Given the description of an element on the screen output the (x, y) to click on. 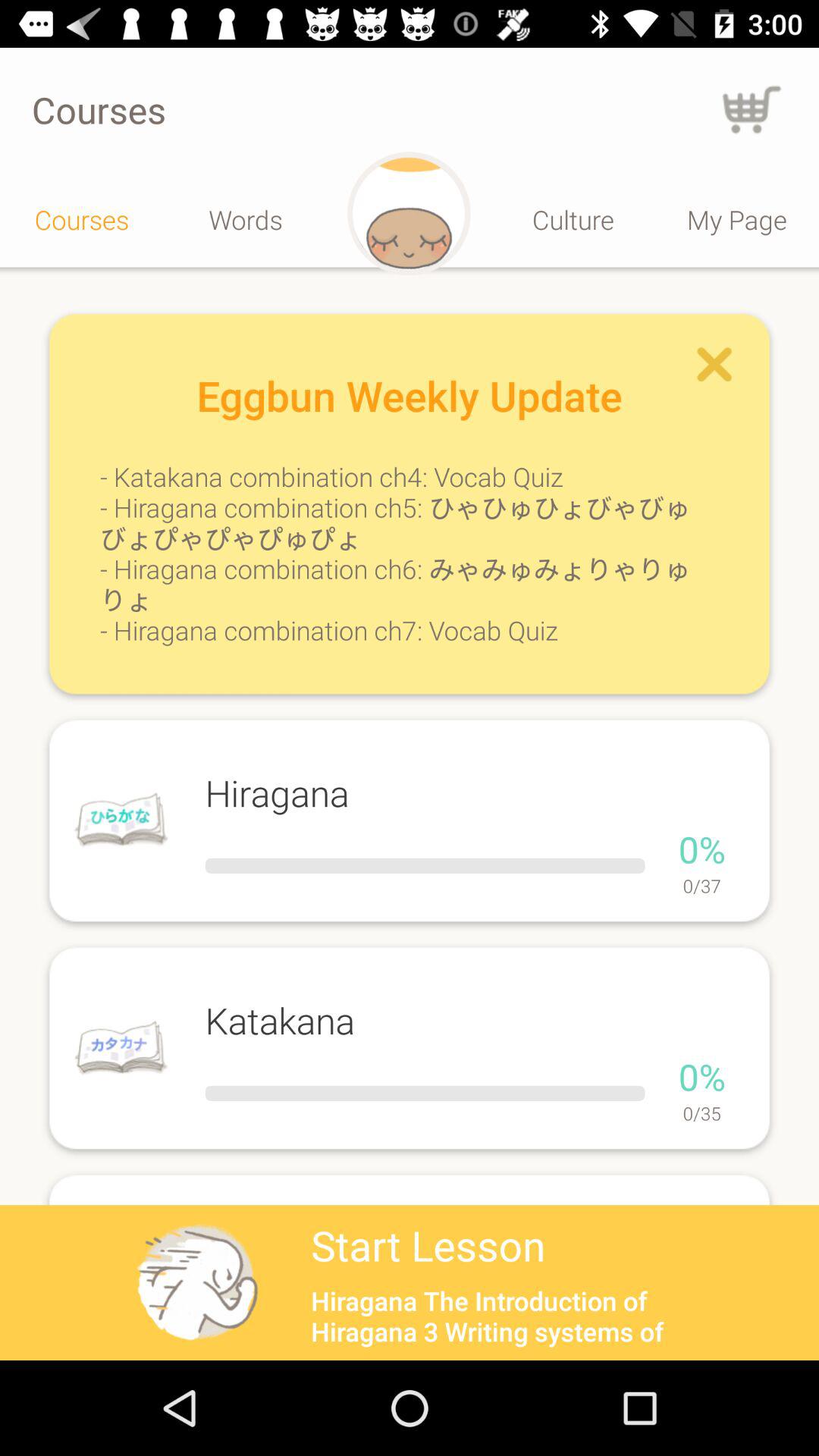
go to cart (751, 109)
